Given the description of an element on the screen output the (x, y) to click on. 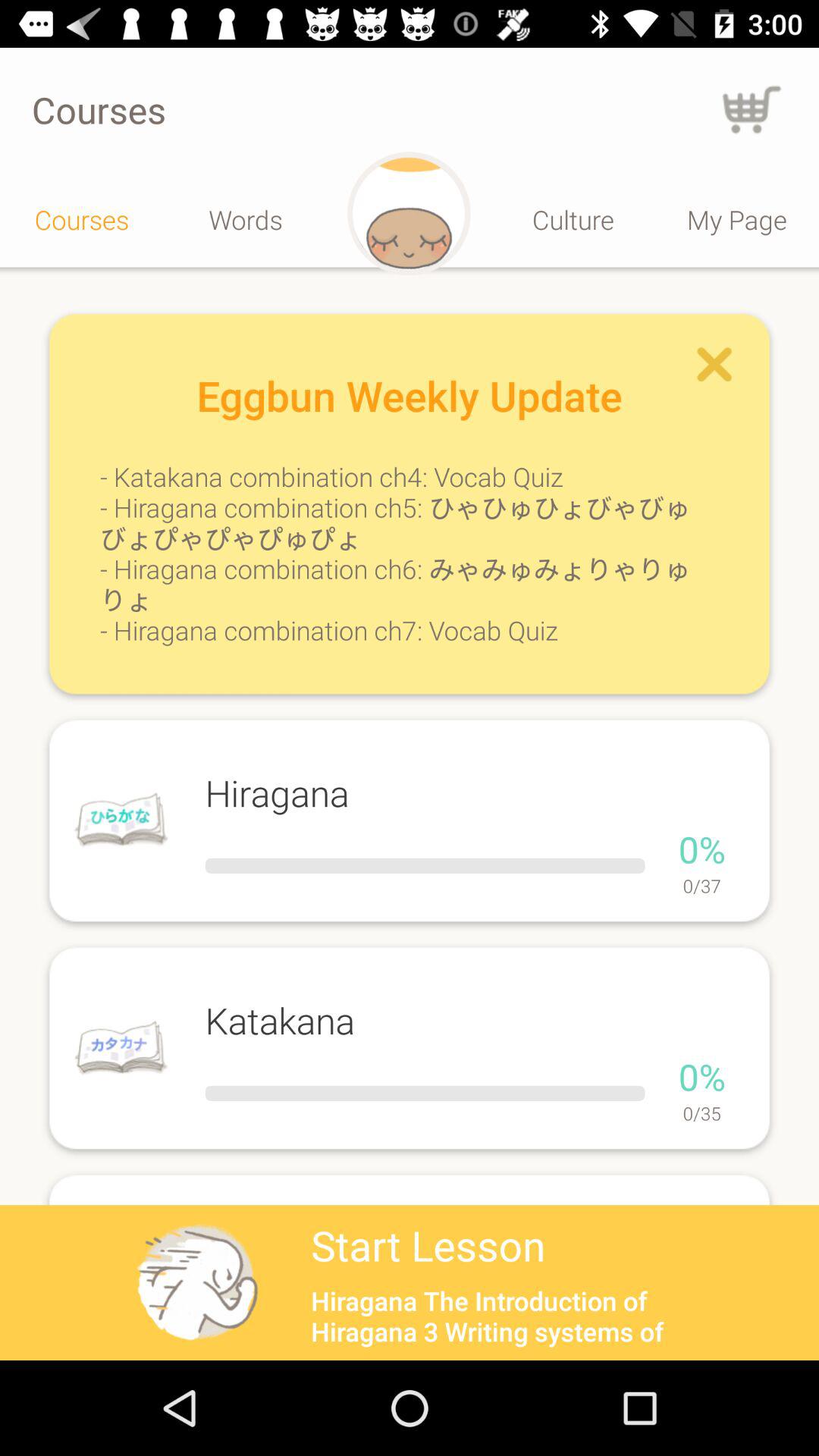
go to cart (751, 109)
